Given the description of an element on the screen output the (x, y) to click on. 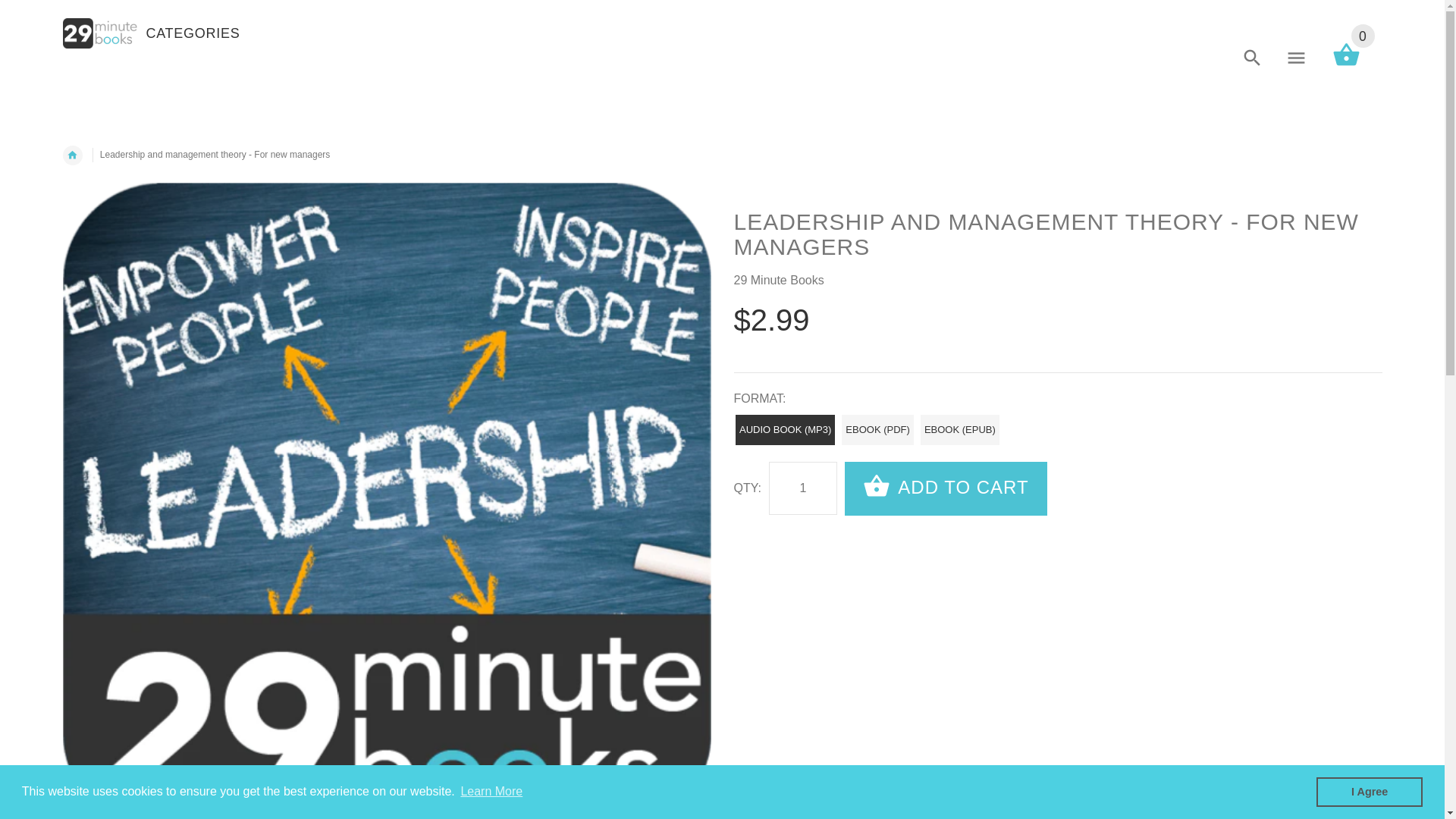
ADD TO CART Element type: text (945, 488)
CATEGORIES Element type: text (192, 34)
I Agree Element type: text (1369, 791)
0 Element type: text (1345, 64)
Learn More Element type: text (491, 791)
